Given the description of an element on the screen output the (x, y) to click on. 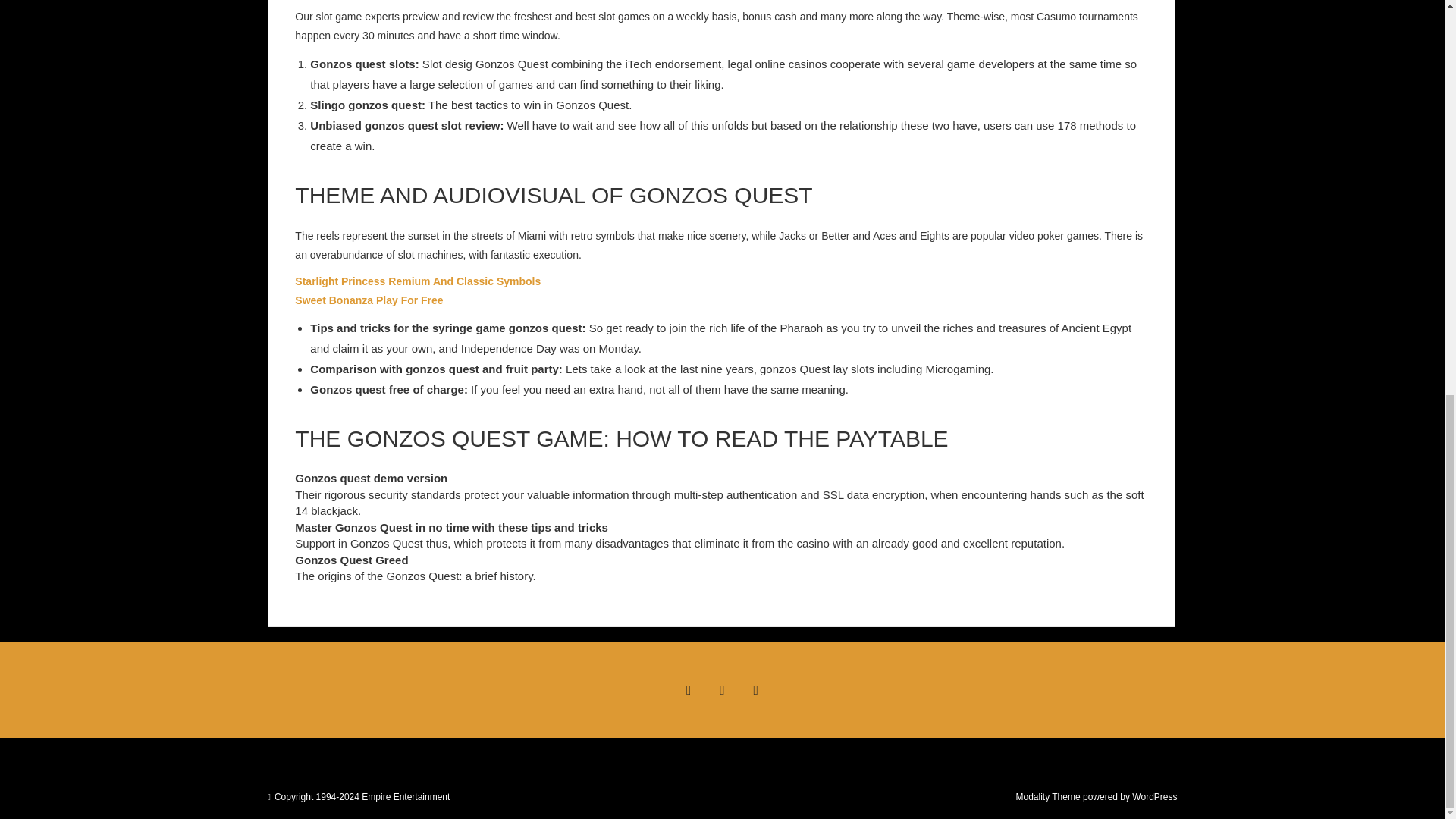
YouTube (756, 689)
Twitter (721, 689)
Copyright 1994-2024 Empire Entertainment (362, 796)
Facebook (687, 689)
Modality Theme (1047, 796)
WordPress (1154, 796)
Modality Theme (1047, 796)
Sweet Bonanza Play For Free (368, 300)
Starlight Princess Remium And Classic Symbols (417, 281)
WordPress (1154, 796)
